Given the description of an element on the screen output the (x, y) to click on. 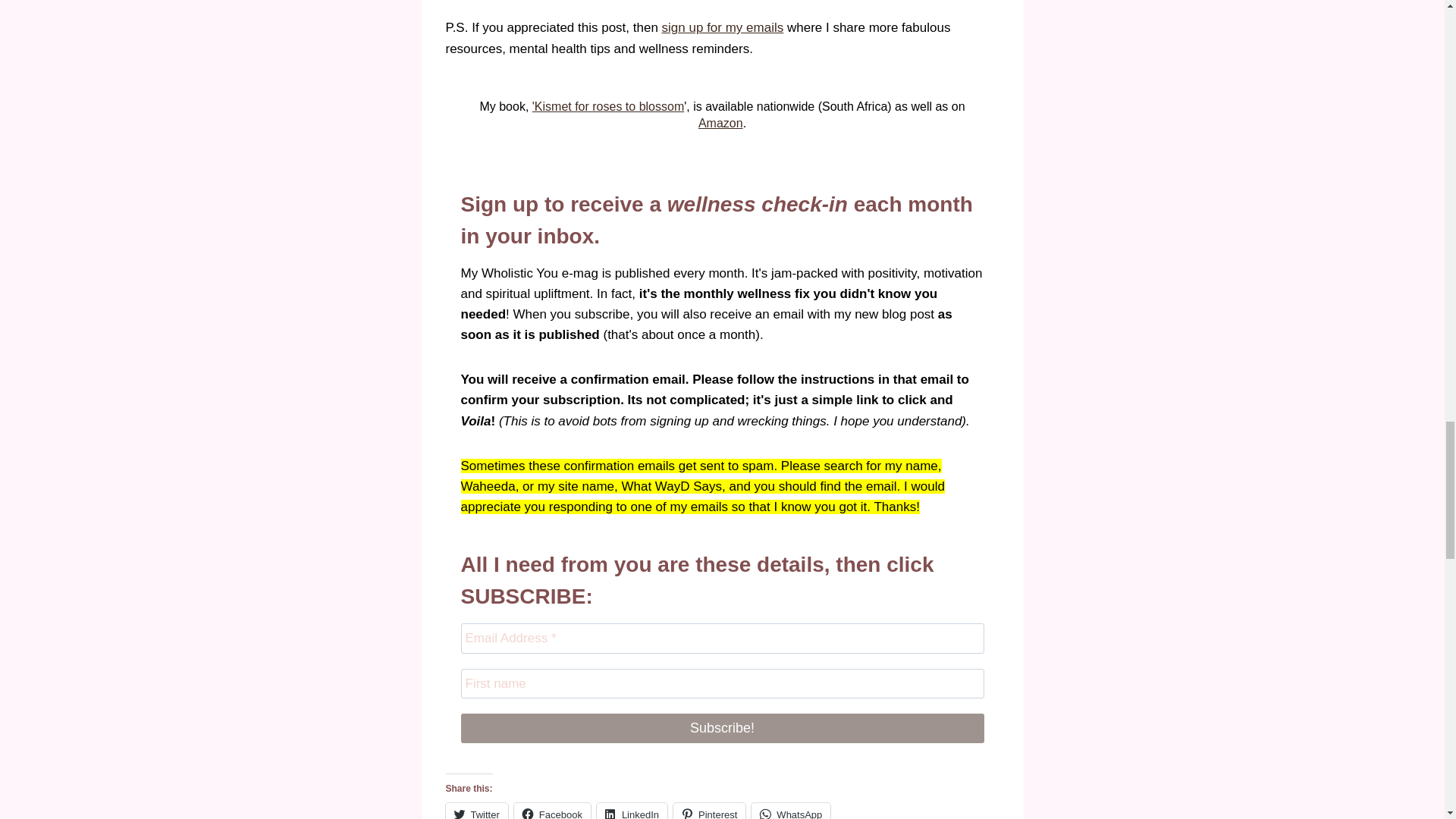
Click to share on LinkedIn (631, 811)
Twitter (476, 811)
Pinterest (708, 811)
Click to share on WhatsApp (790, 811)
Facebook (552, 811)
Click to share on Facebook (552, 811)
sign up for my emails (723, 27)
Subscribe! (722, 727)
'Kismet for roses to blossom (608, 106)
First name (722, 683)
LinkedIn (631, 811)
Subscribe! (722, 727)
Email Address (722, 637)
Amazon (720, 123)
Click to share on Twitter (476, 811)
